Given the description of an element on the screen output the (x, y) to click on. 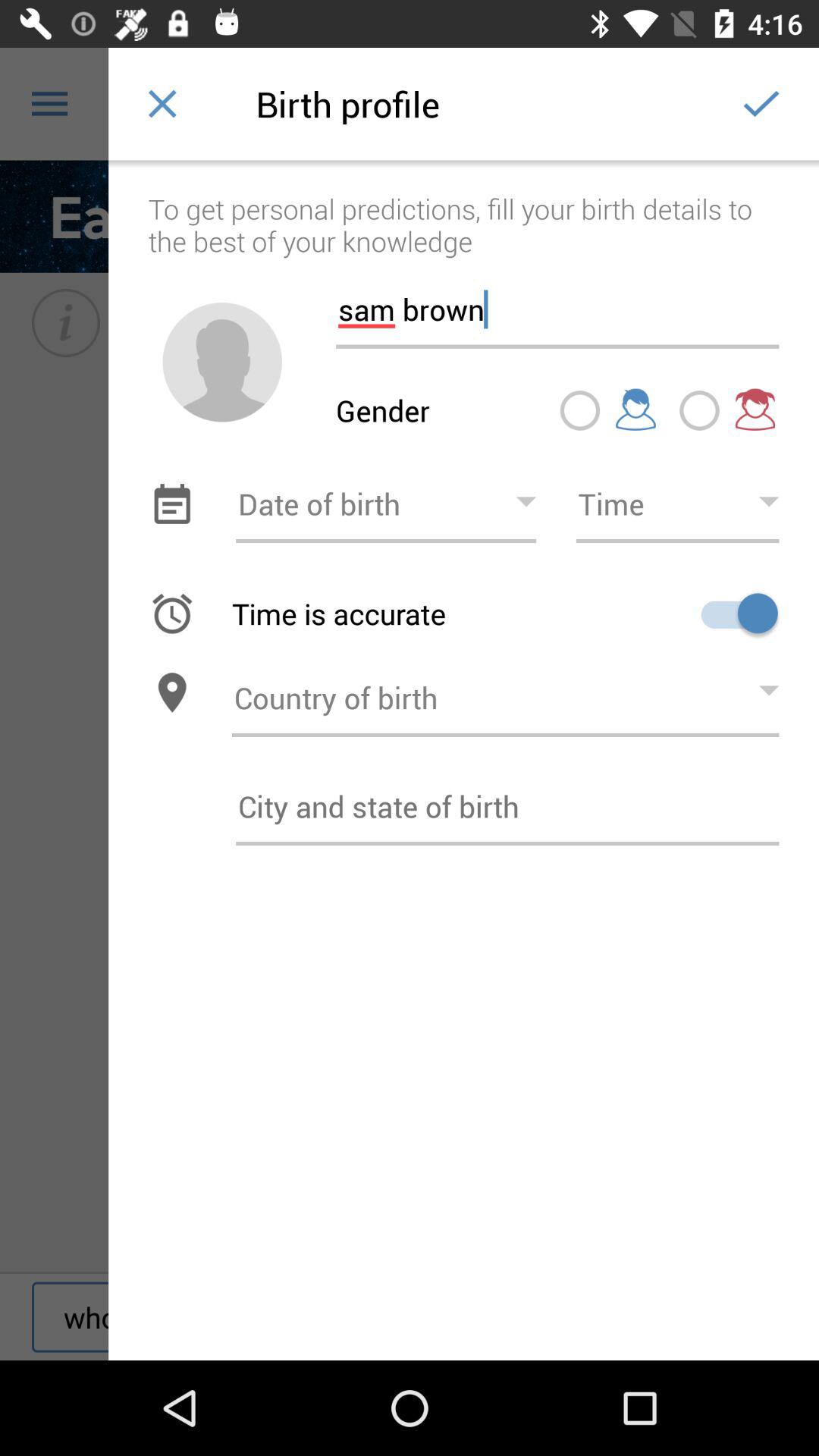
male gender radio button (580, 410)
